Given the description of an element on the screen output the (x, y) to click on. 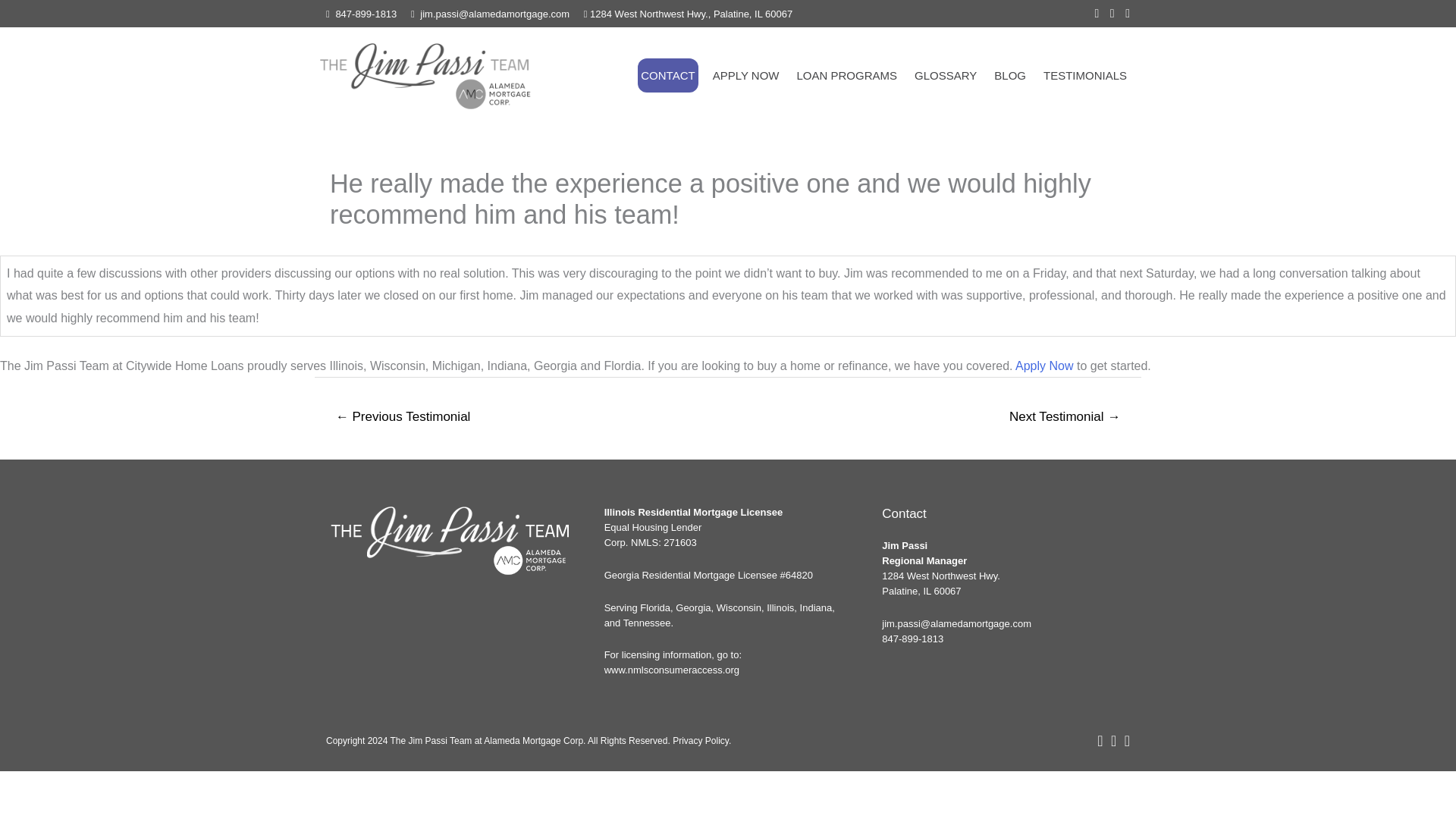
logo-jim-passi-team (424, 75)
GLOSSARY (945, 75)
Privacy Policy (700, 740)
logo-jim-passi-team-white (449, 541)
847-899-1813 (912, 638)
847-899-1813 (365, 13)
APPLY NOW (746, 75)
BLOG (1010, 75)
TESTIMONIALS (1085, 75)
1284 West Northwest Hwy., Palatine, IL 60067 (690, 13)
LOAN PROGRAMS (846, 75)
CONTACT (667, 75)
Apply Now (1043, 365)
www.nmlsconsumeraccess.org (671, 669)
